Given the description of an element on the screen output the (x, y) to click on. 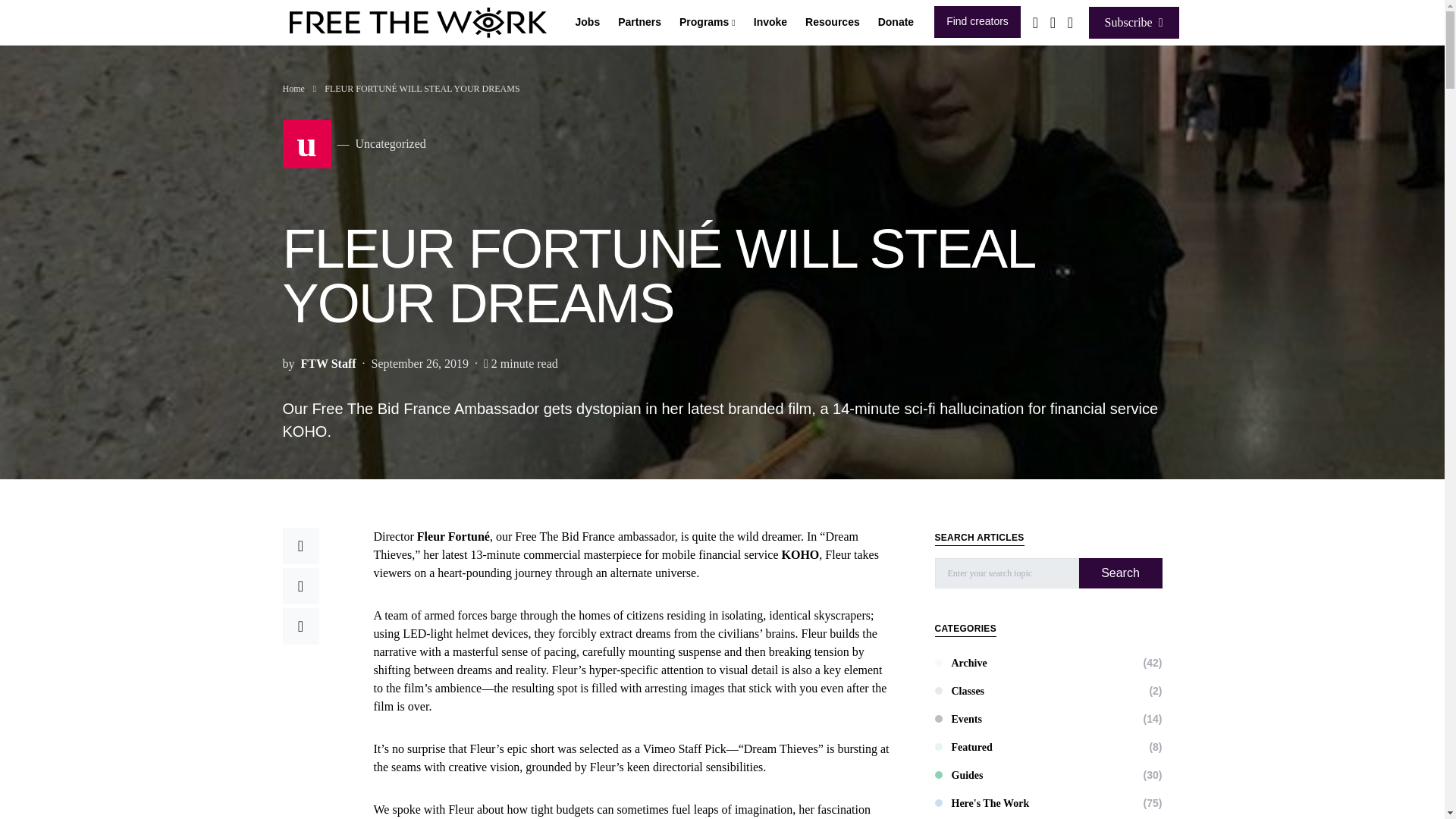
Partners (638, 22)
Find creators (977, 21)
Donate (896, 22)
View all posts by FTW Staff (327, 363)
Invoke (770, 22)
Home (293, 88)
Programs (706, 22)
FTW Staff (327, 363)
Subscribe (1134, 21)
Resources (832, 22)
